Given the description of an element on the screen output the (x, y) to click on. 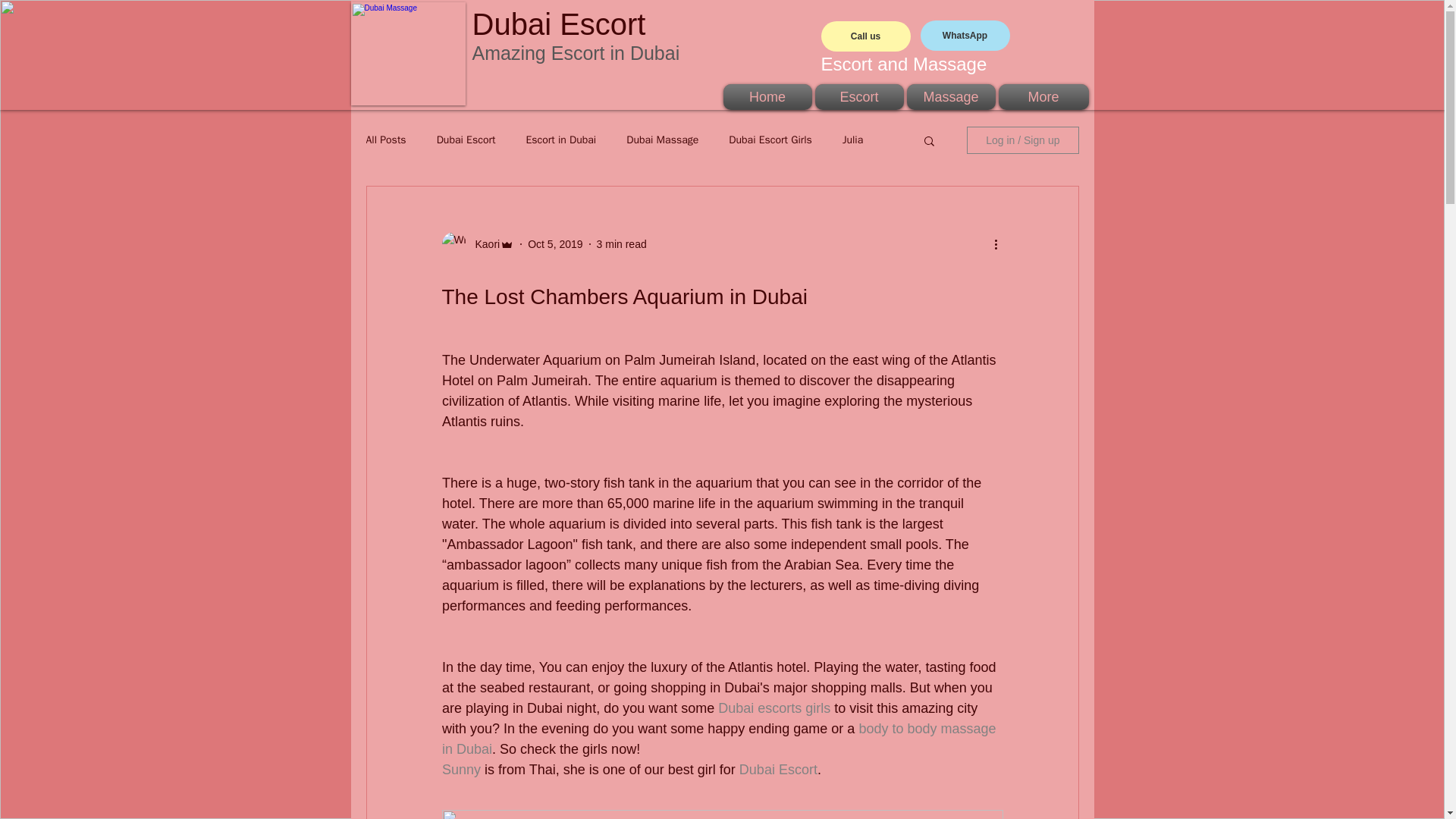
All Posts (385, 140)
Escort (858, 96)
Escort in Dubai (560, 140)
Julia (853, 140)
Kaori (482, 244)
Dubai escorts girls (773, 708)
Dubai Massage (662, 140)
Oct 5, 2019 (554, 244)
body to body massage in Dubai (719, 738)
WhatsApp (965, 35)
Call us (865, 36)
Massage (951, 96)
Massage in Dubai (407, 53)
3 min read (621, 244)
Home (767, 96)
